Given the description of an element on the screen output the (x, y) to click on. 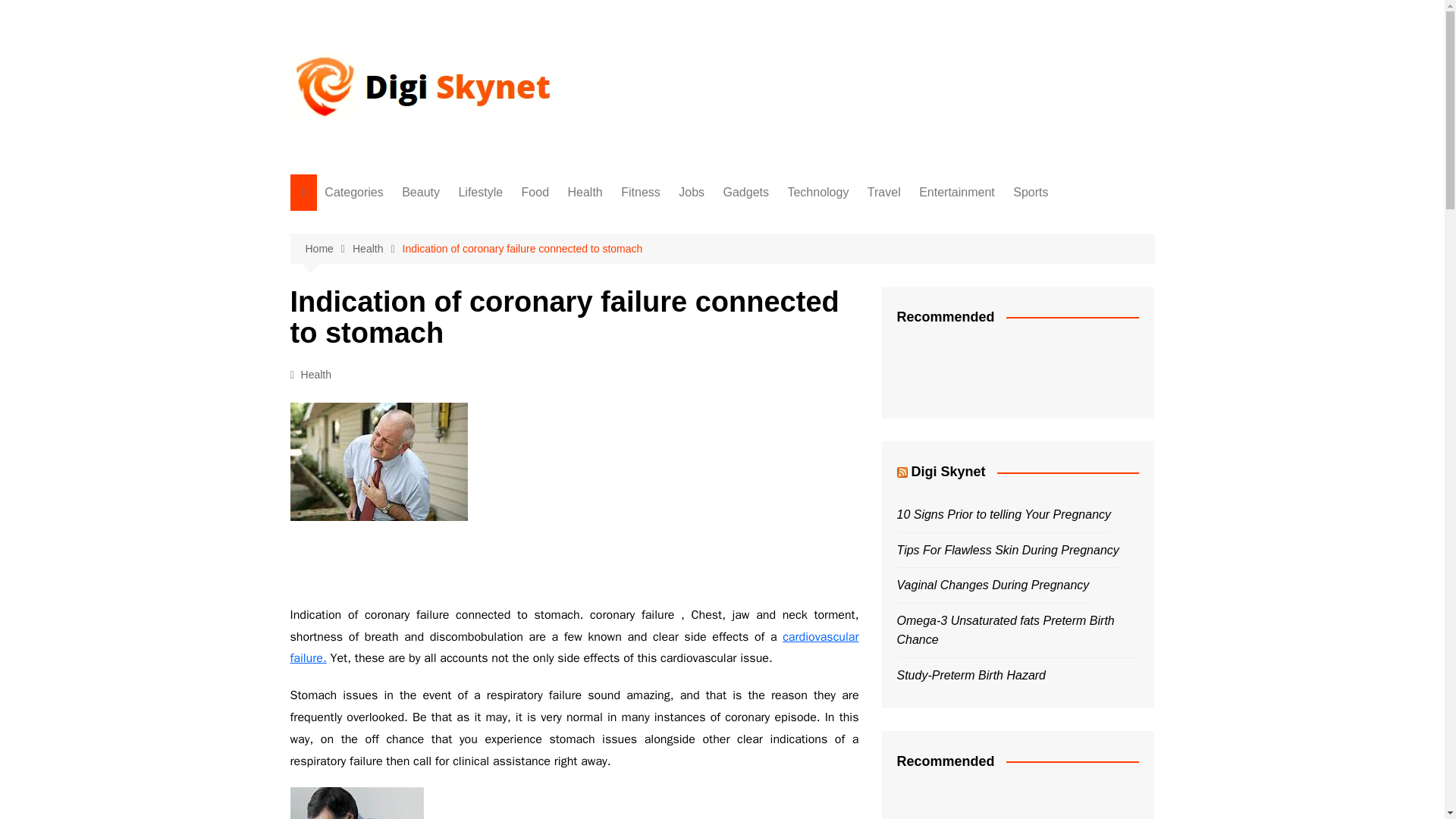
Health (377, 248)
Sports (1030, 192)
Gadgets (400, 398)
Health (585, 192)
Entertainment (400, 473)
Food (534, 192)
Lifestyle (480, 192)
Lifestyle (400, 248)
Jobs (400, 373)
Indication of coronary failure connected to stomach (356, 803)
cardiovascular failure. (574, 647)
Pets (400, 523)
Sports (400, 498)
Jobs (691, 192)
Health (400, 298)
